Given the description of an element on the screen output the (x, y) to click on. 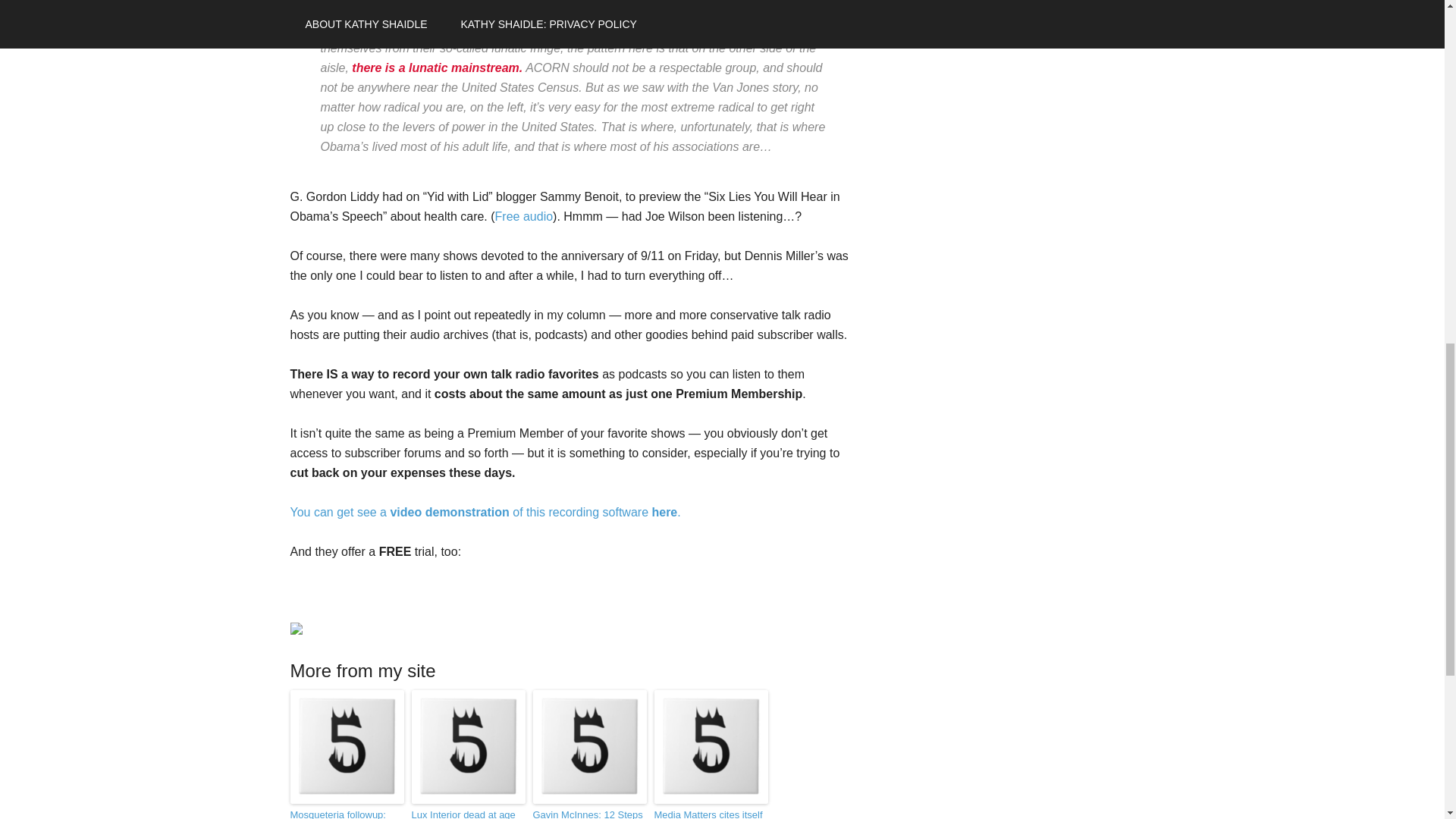
Lux Interior dead at age 60 (467, 813)
Gavin McInnes: 12 Steps for America (589, 813)
Media Matters cites itself as expert source (710, 813)
conservative talk radio online (484, 512)
conservative talk radio (524, 215)
Free audio (524, 215)
